Given the description of an element on the screen output the (x, y) to click on. 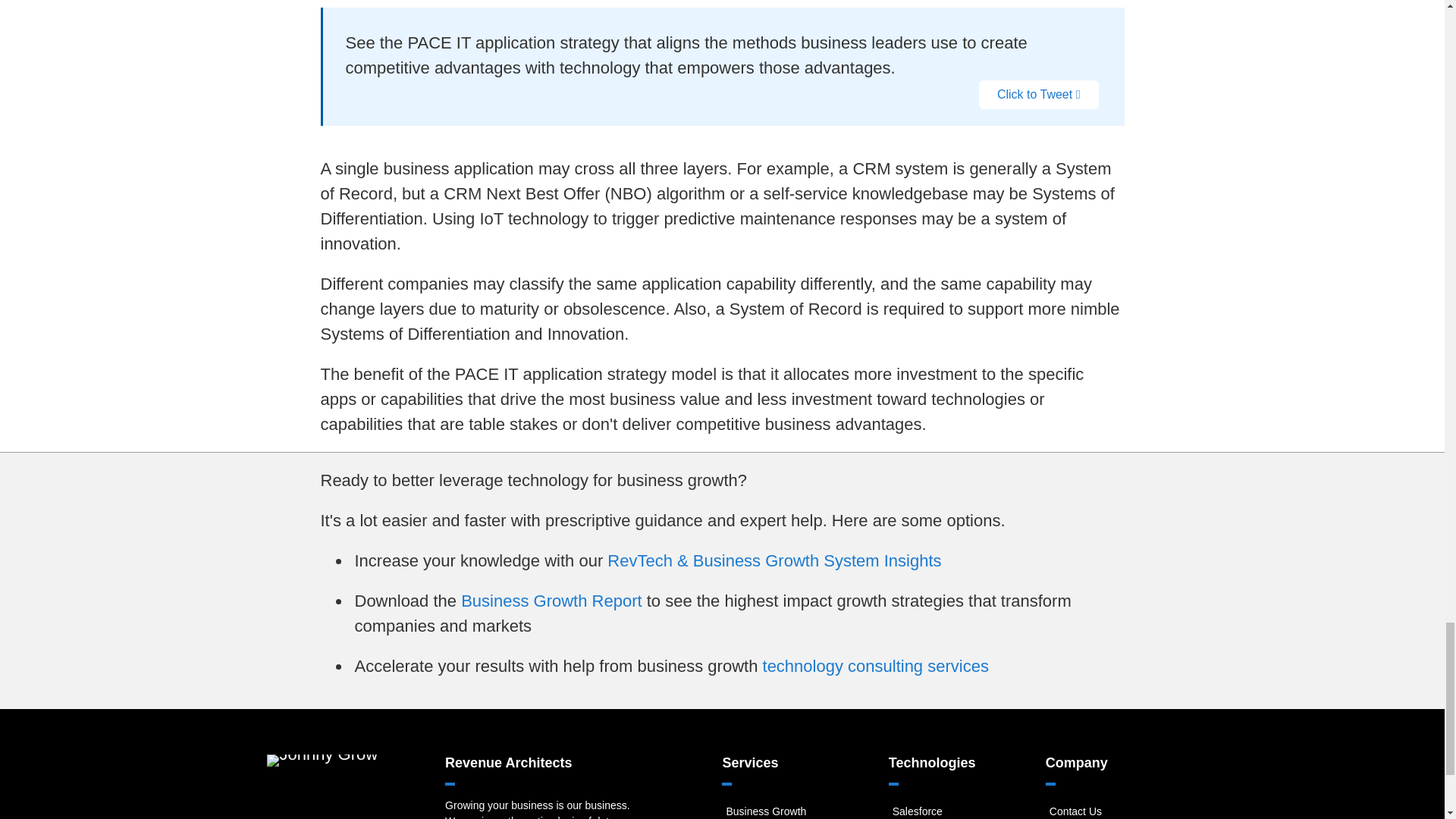
Johnny Grow (321, 760)
Salesforce Consultant (917, 811)
Business Growth Consultant (765, 811)
